Given the description of an element on the screen output the (x, y) to click on. 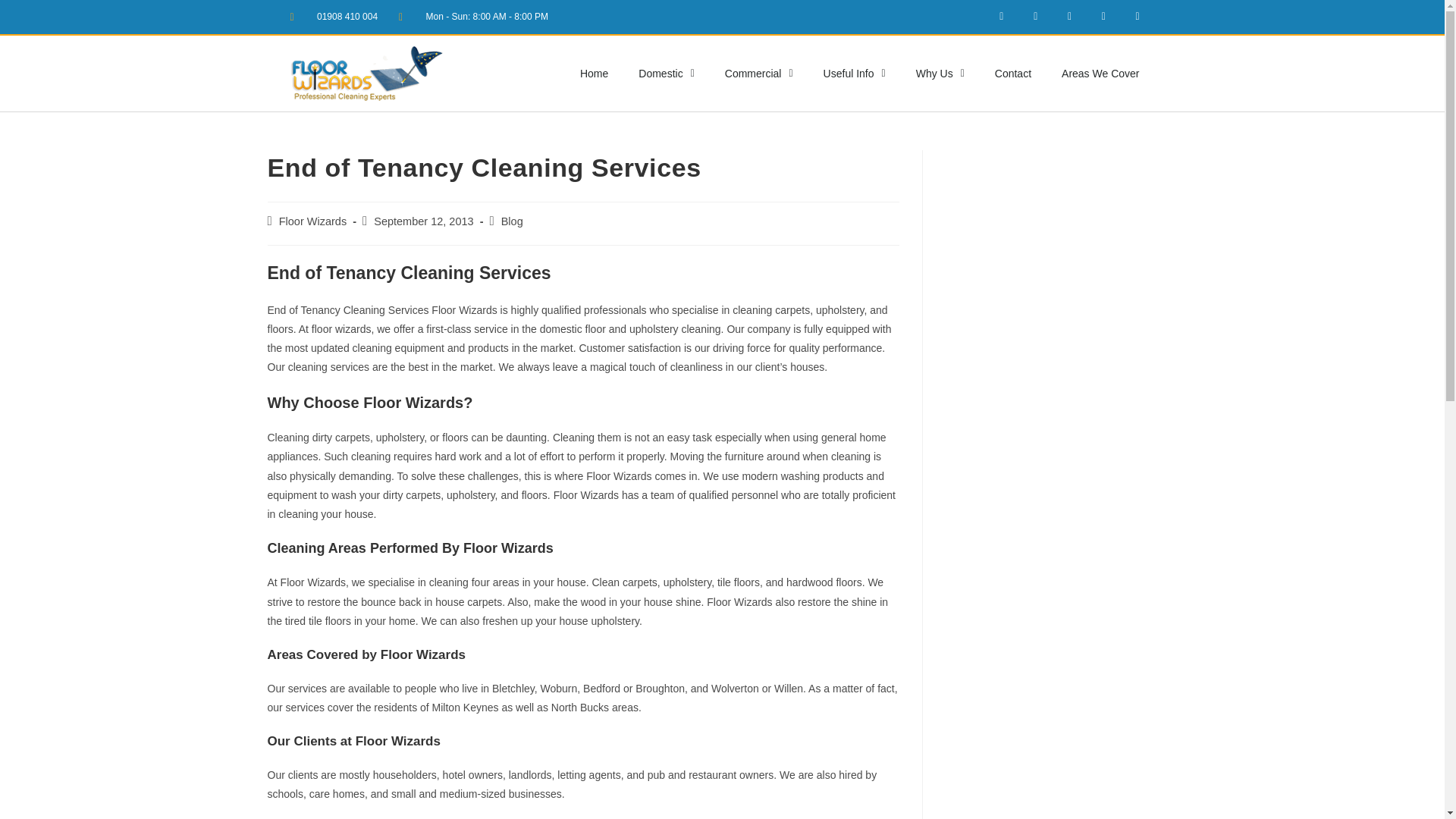
Domestic (666, 73)
Posts by Floor Wizards (312, 221)
01908 410 004 (333, 17)
Commercial (759, 73)
Why Us (940, 73)
Useful Info (854, 73)
